Given the description of an element on the screen output the (x, y) to click on. 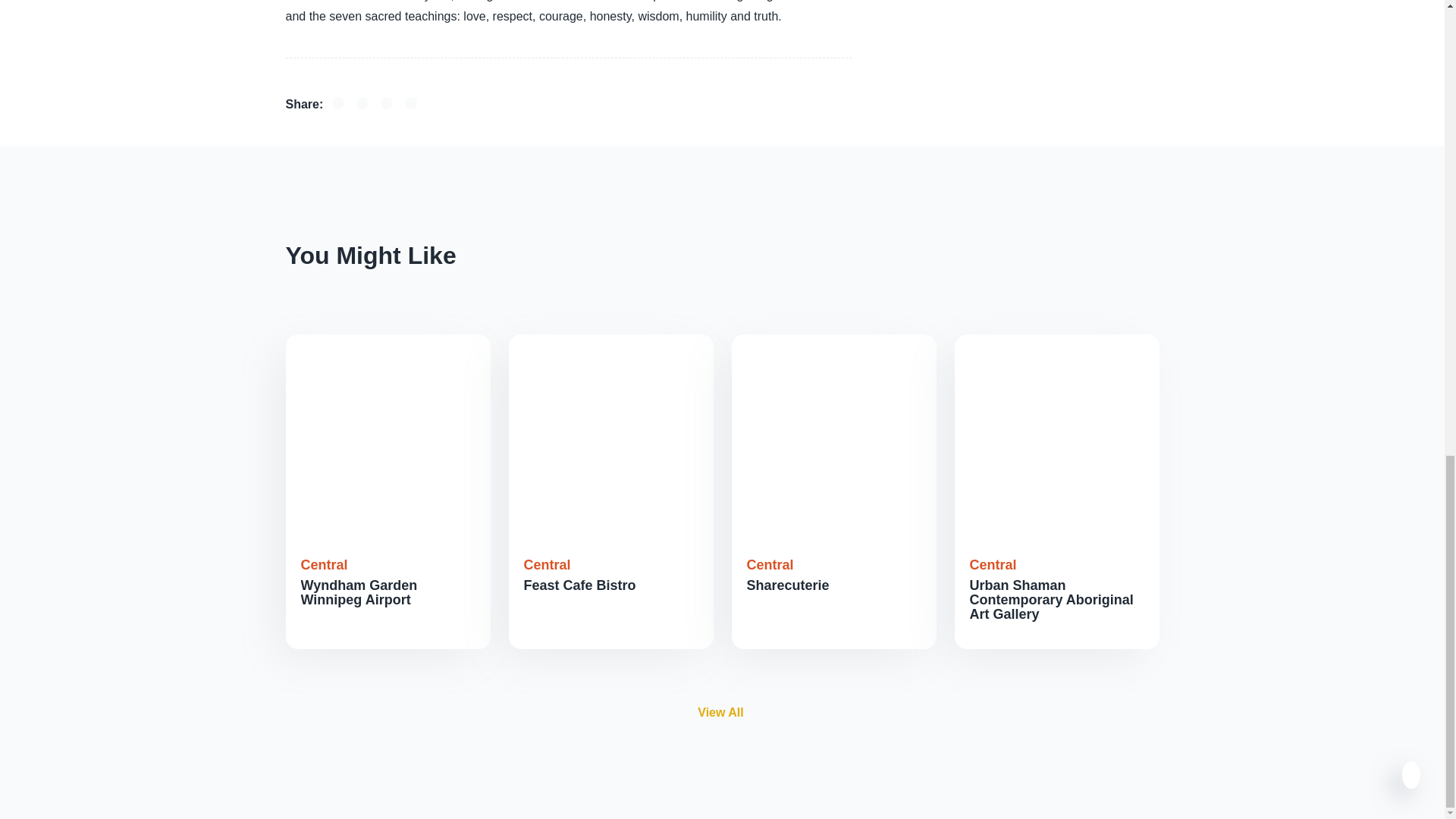
View All (721, 712)
View All (719, 711)
Sharecuterie (786, 585)
Wyndham Garden Winnipeg Airport (357, 592)
Feast Cafe Bistro (578, 585)
Urban Shaman Contemporary Aboriginal Art Gallery (1050, 599)
